Given the description of an element on the screen output the (x, y) to click on. 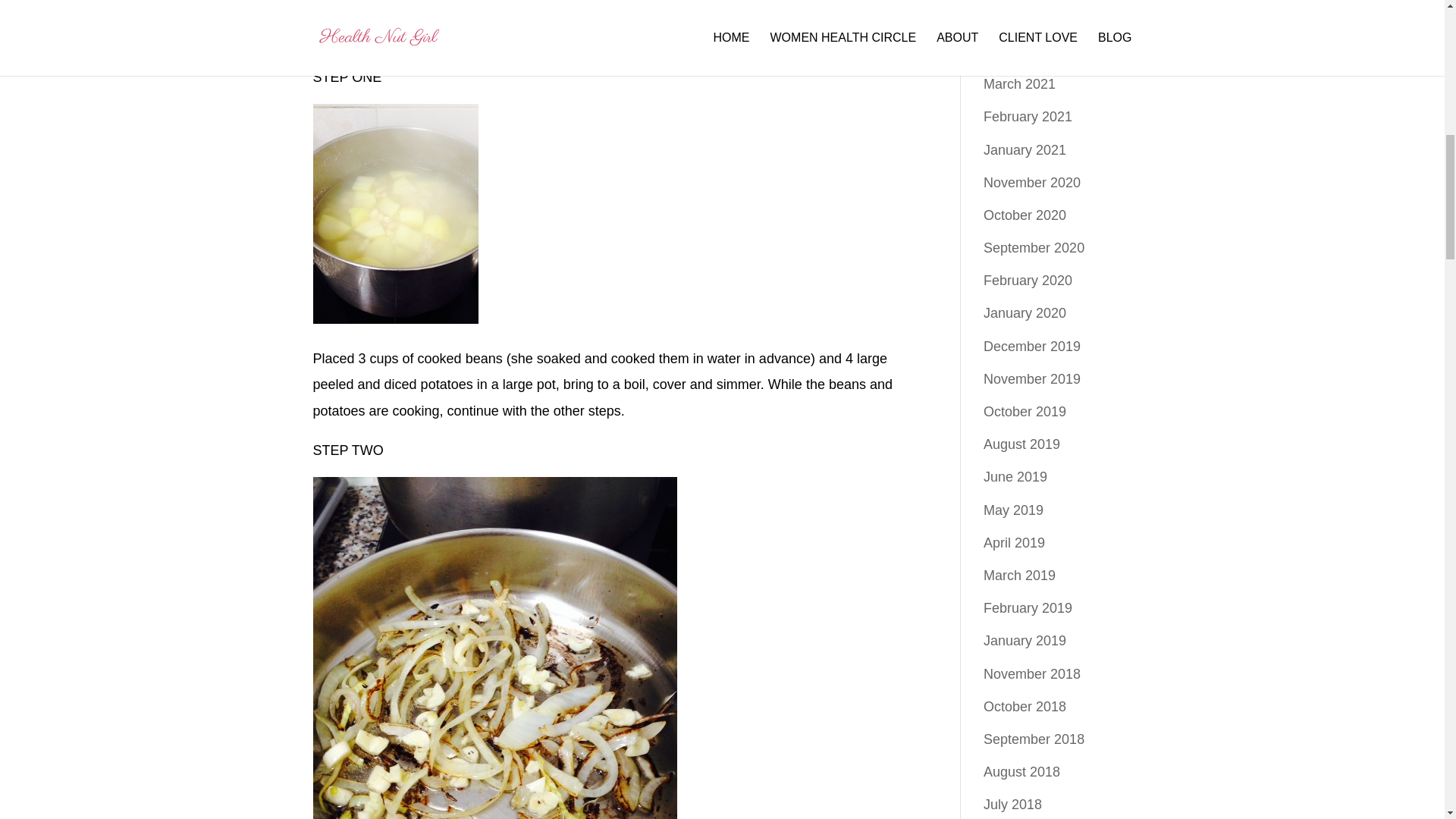
November 2019 (1032, 378)
November 2020 (1032, 182)
January 2020 (1024, 313)
February 2022 (1027, 18)
May 2021 (1013, 51)
February 2020 (1027, 280)
September 2020 (1034, 247)
February 2021 (1027, 116)
October 2020 (1024, 215)
December 2019 (1032, 346)
March 2021 (1019, 83)
January 2021 (1024, 150)
